Given the description of an element on the screen output the (x, y) to click on. 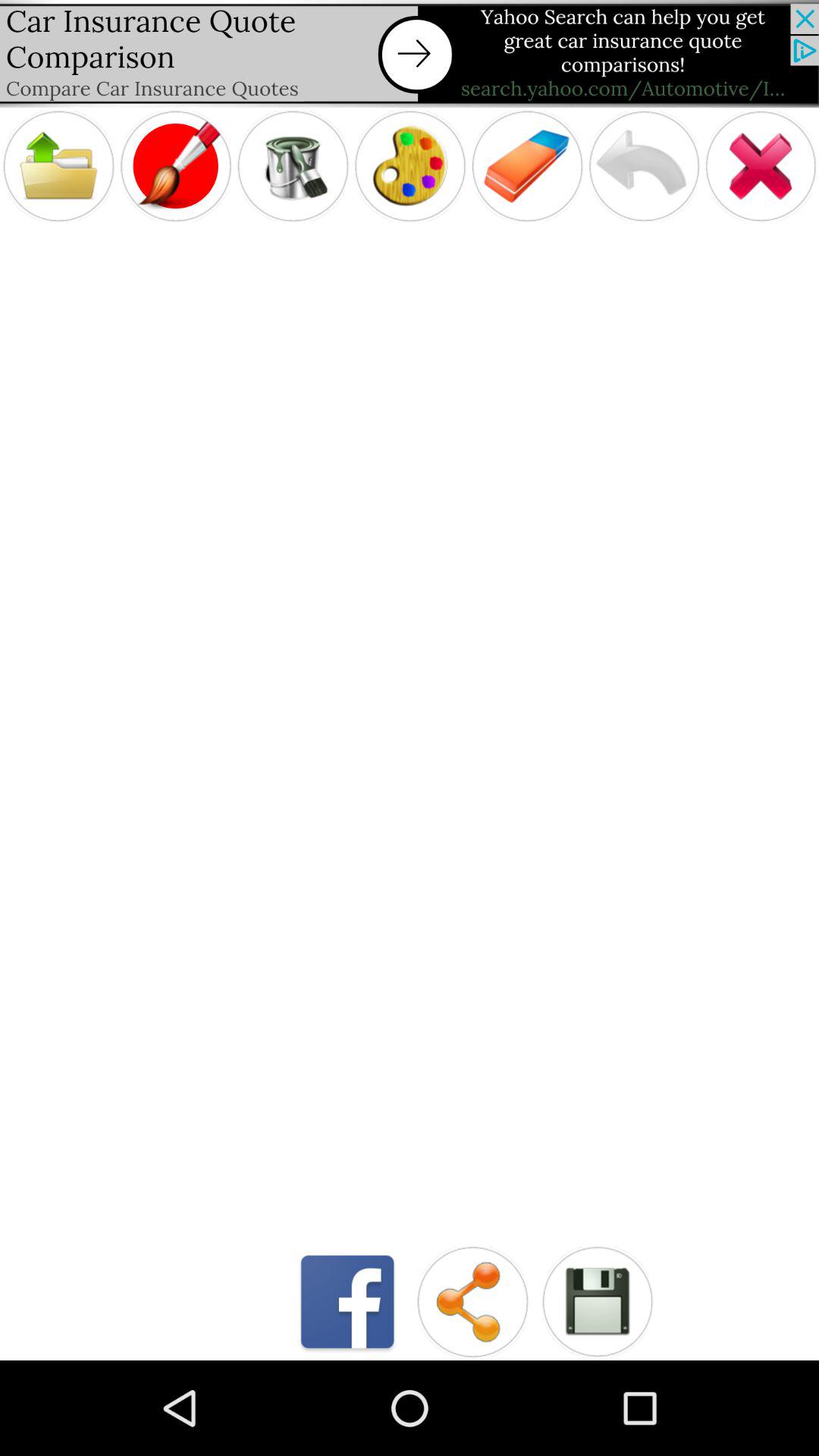
share the article (472, 1301)
